Given the description of an element on the screen output the (x, y) to click on. 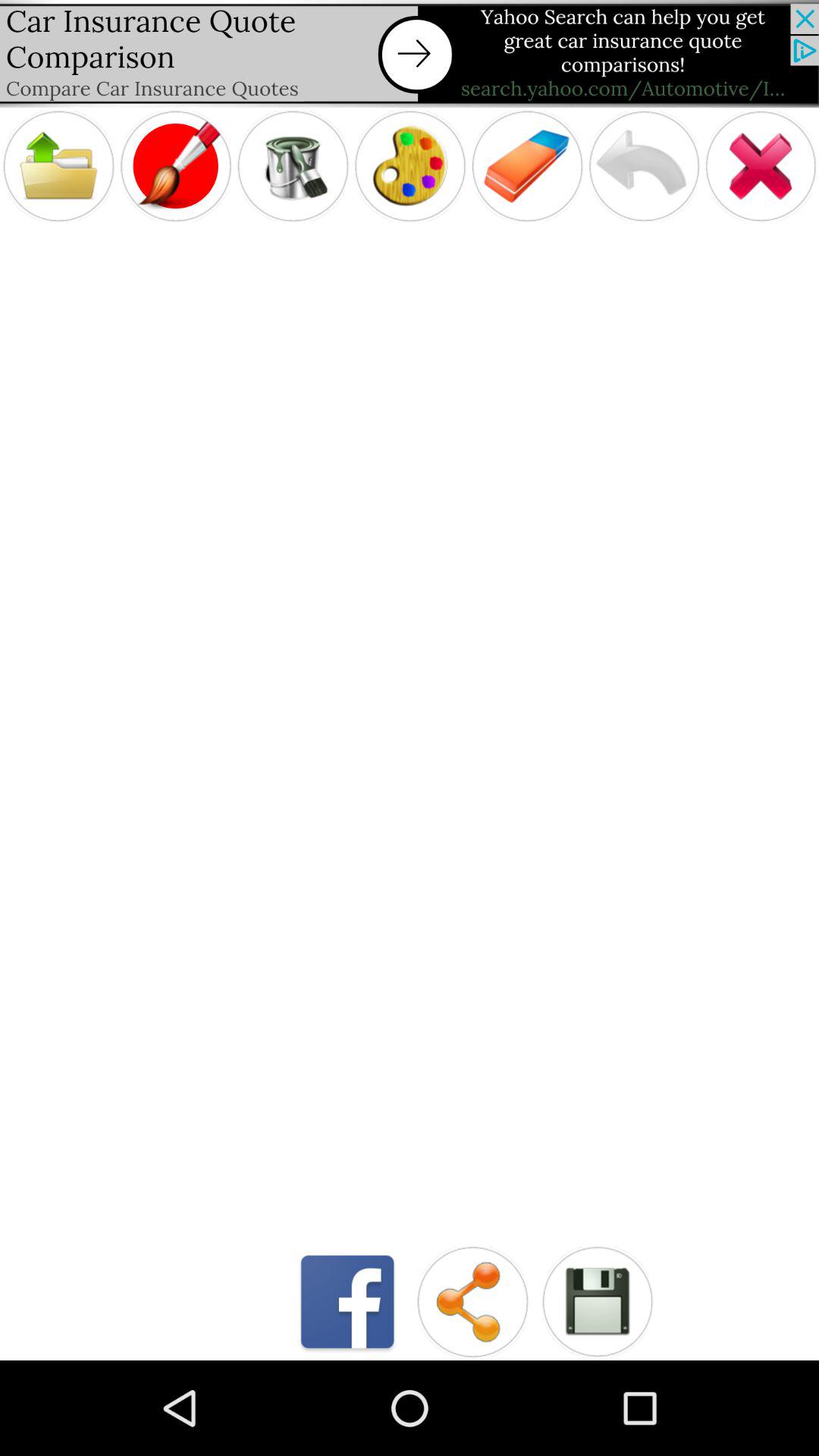
share the article (472, 1301)
